Given the description of an element on the screen output the (x, y) to click on. 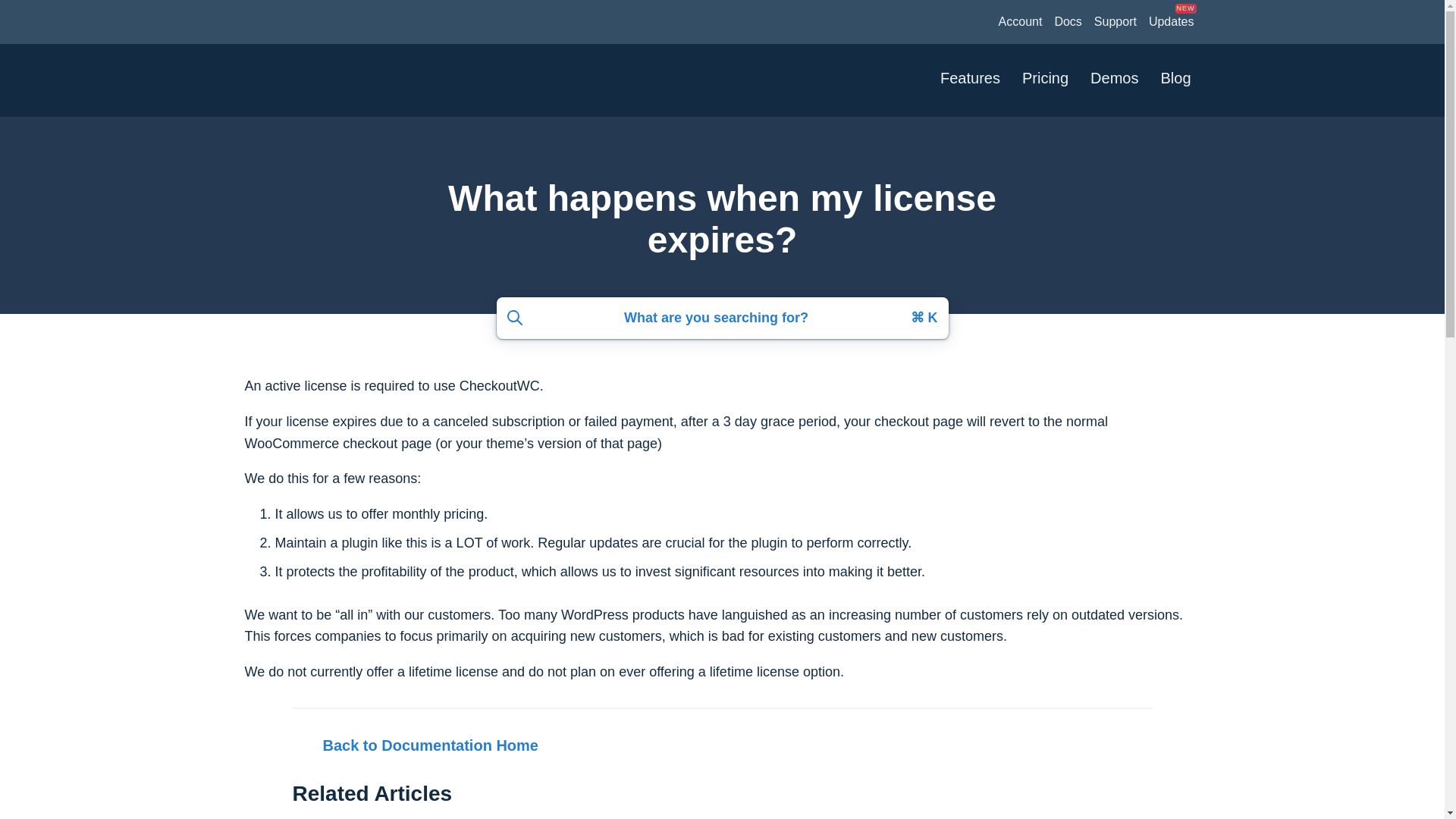
Docs (1067, 21)
Features (970, 80)
Demos (1114, 80)
Back to Documentation Home (722, 745)
Support (1114, 21)
Account (1020, 21)
Blog (1175, 80)
CHECKOUTWC (329, 80)
Pricing (1045, 80)
